Given the description of an element on the screen output the (x, y) to click on. 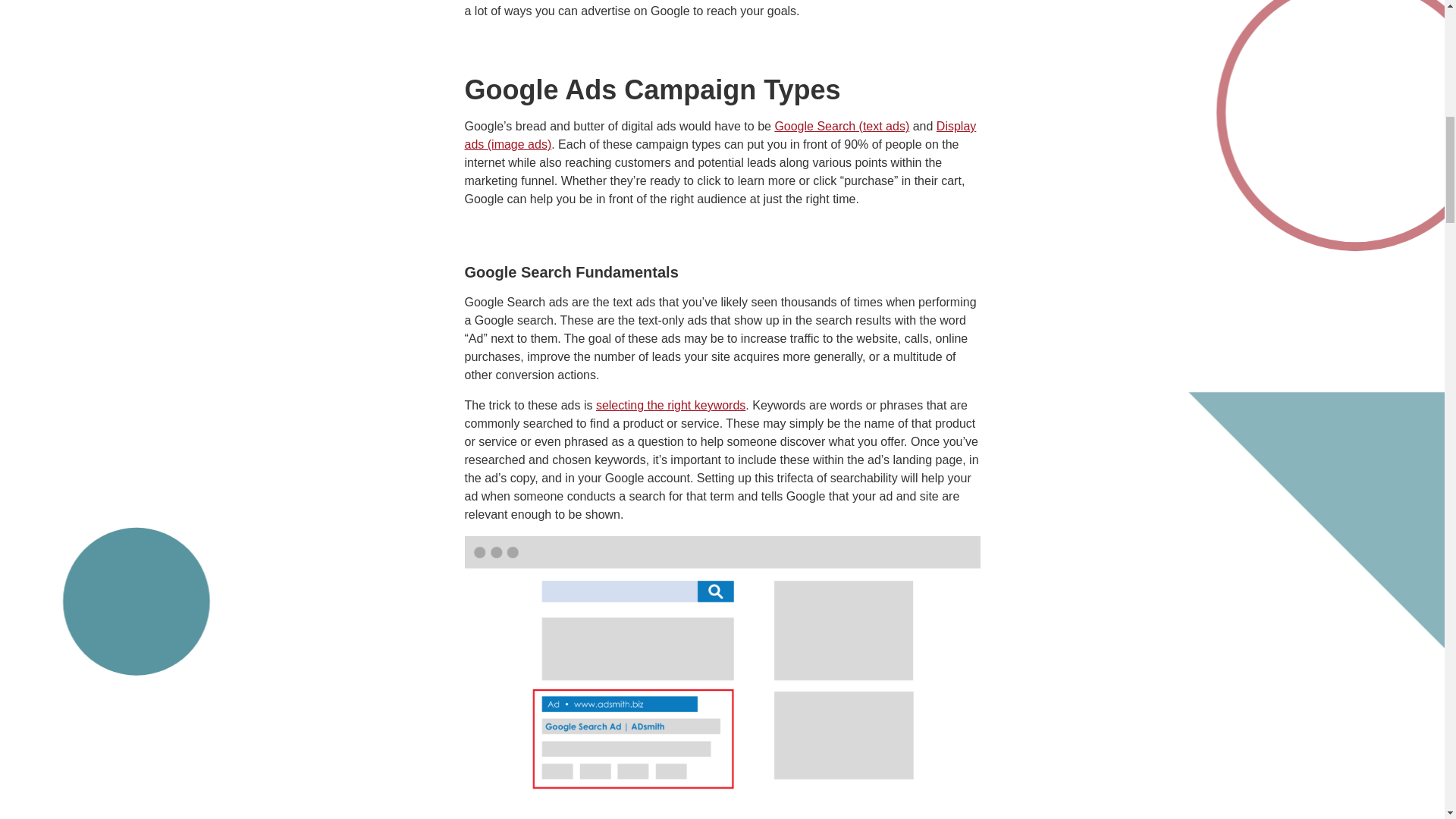
selecting the right keywords (670, 404)
